Given the description of an element on the screen output the (x, y) to click on. 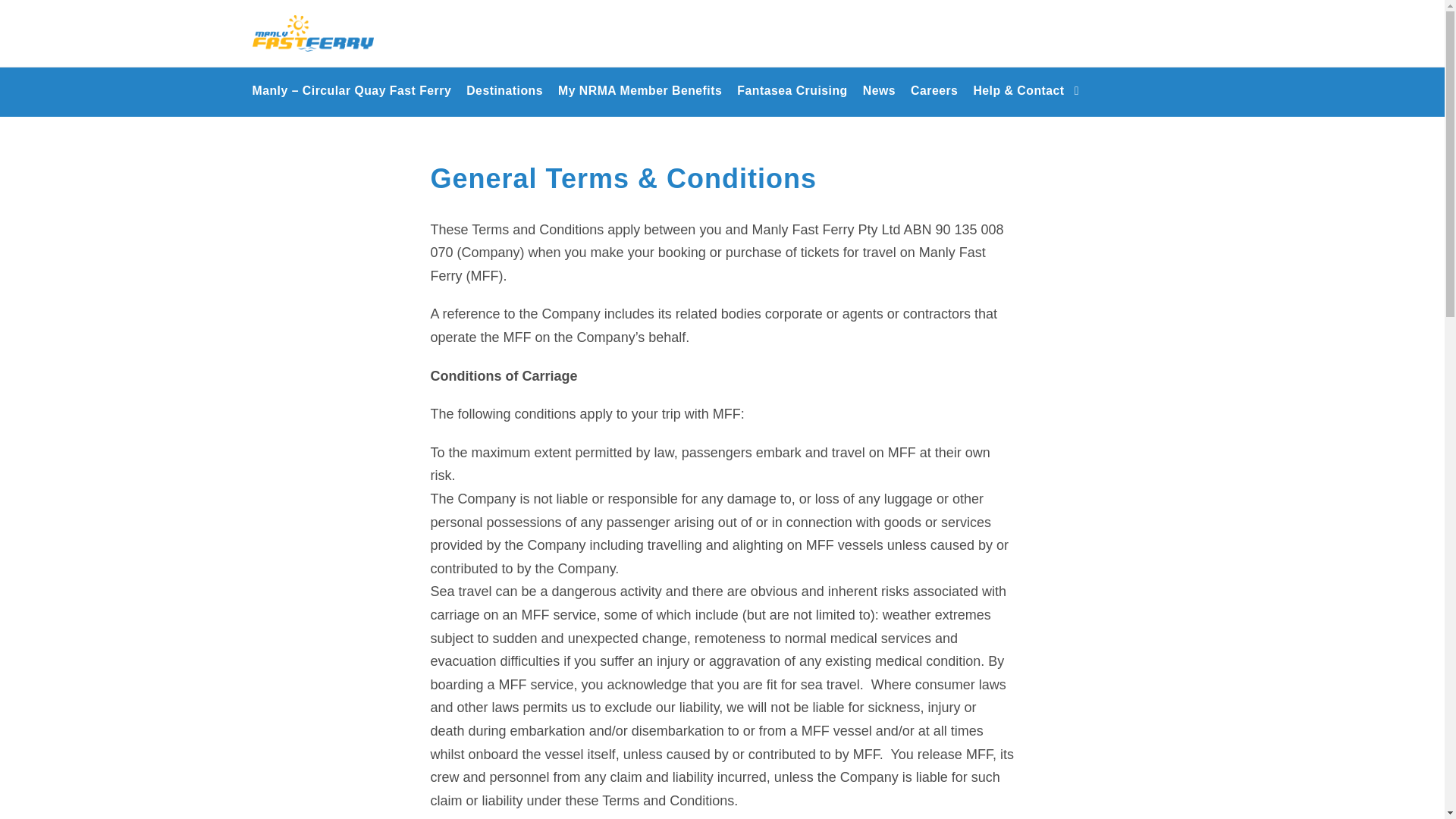
Careers Element type: text (933, 98)
Destinations Element type: text (504, 98)
News Element type: text (878, 98)
My NRMA Member Benefits Element type: text (639, 98)
Manly Fast Ferry Element type: hover (312, 33)
Fantasea Cruising Element type: text (792, 98)
Help & Contact Element type: text (1025, 98)
